Given the description of an element on the screen output the (x, y) to click on. 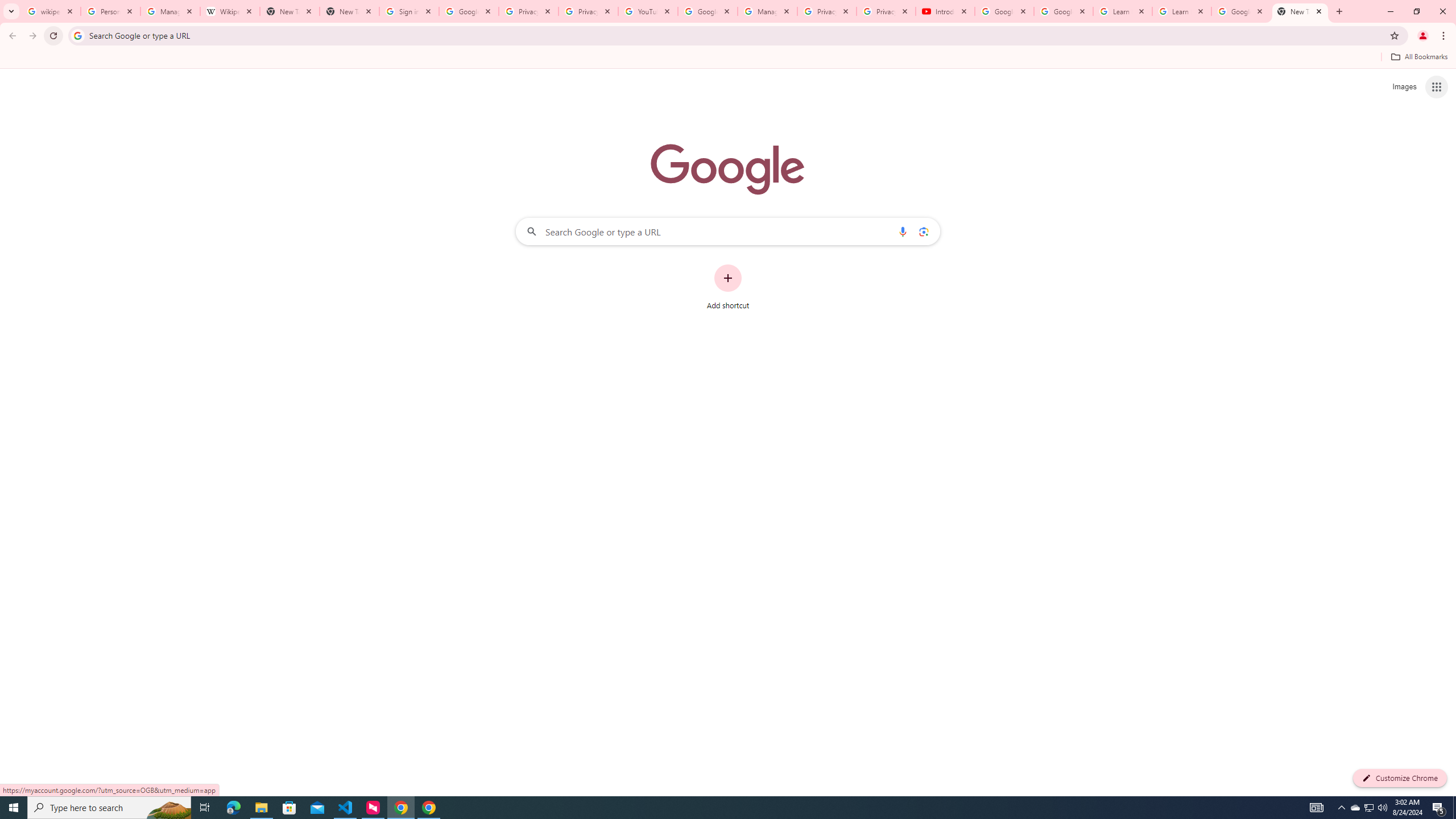
Customize Chrome (1399, 778)
Bookmarks (728, 58)
Wikipedia:Edit requests - Wikipedia (229, 11)
Google Account Help (1063, 11)
Personalization & Google Search results - Google Search Help (110, 11)
Google Drive: Sign-in (468, 11)
